Given the description of an element on the screen output the (x, y) to click on. 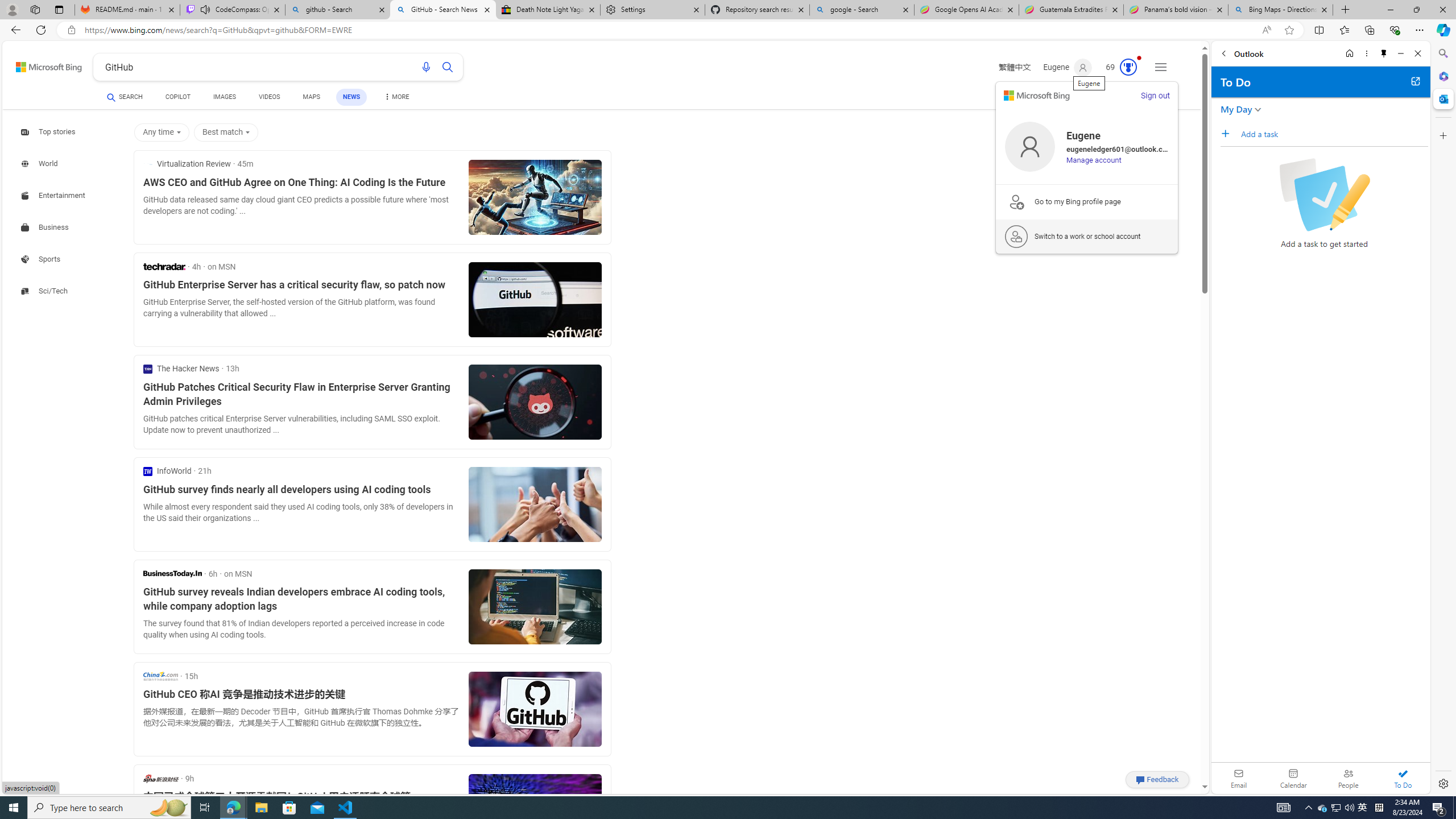
TechRadar (163, 266)
Bing Pages Upsell Logo (1016, 201)
Search news about Top stories (49, 132)
Business Today (172, 573)
work signin Switch to a work or school account (1086, 236)
Search using voice (426, 66)
Back to Bing search (41, 64)
